Given the description of an element on the screen output the (x, y) to click on. 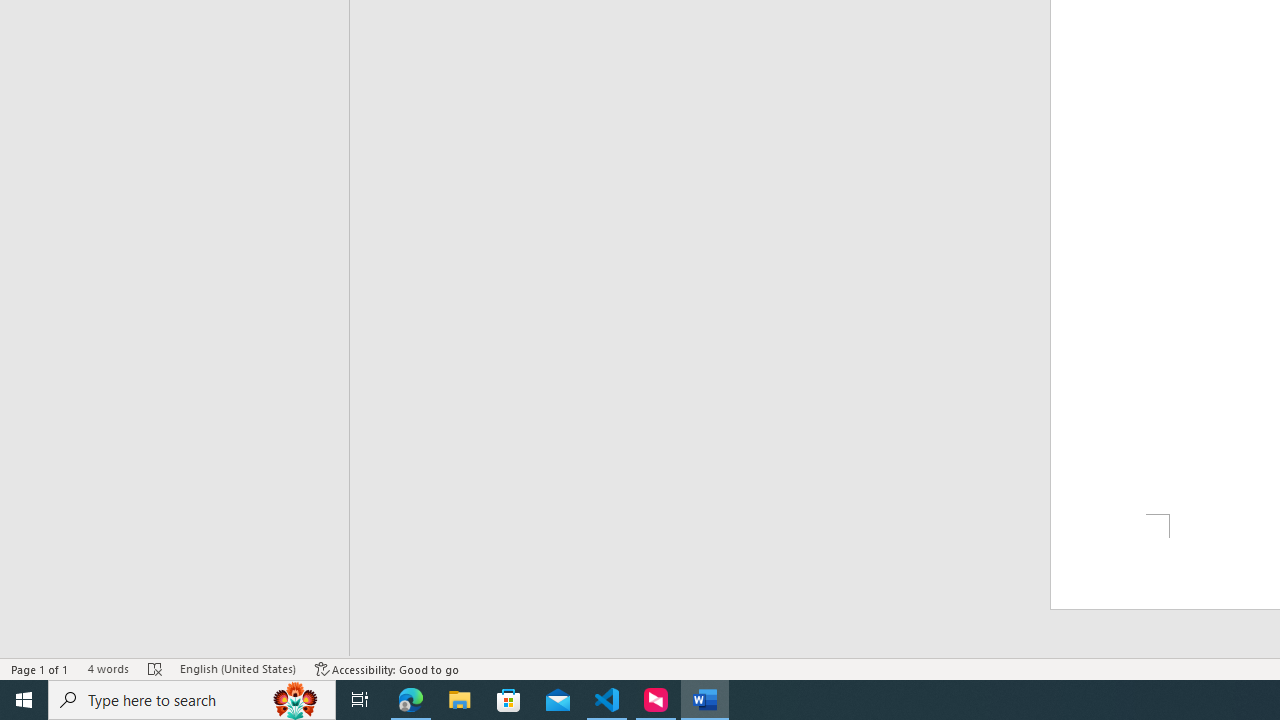
Page Number Page 1 of 1 (39, 668)
